Given the description of an element on the screen output the (x, y) to click on. 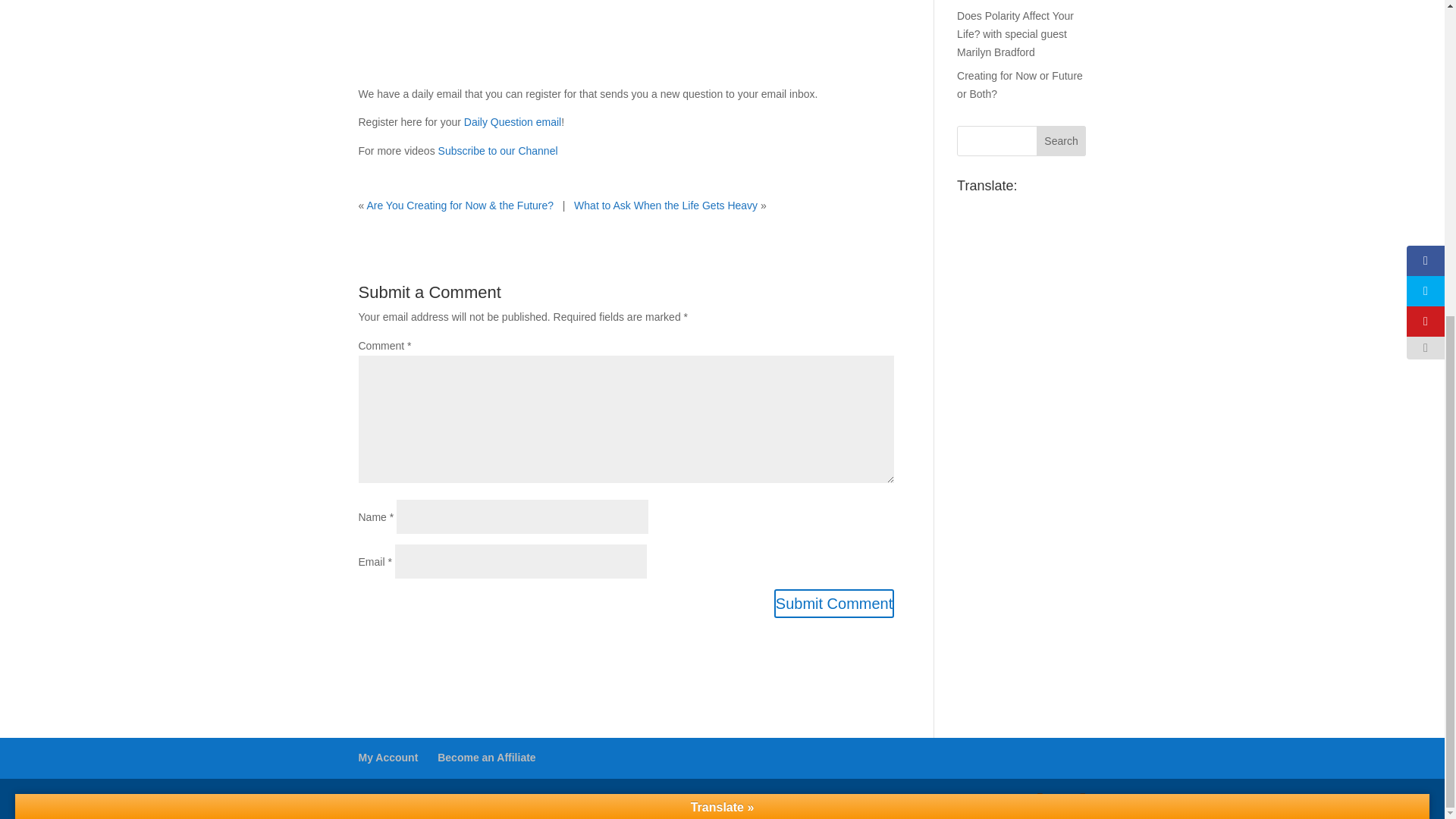
Daily Question email (512, 121)
Subscribe to our Channel (497, 150)
Submit Comment (834, 603)
Search (1061, 141)
Submit Comment (834, 603)
What to Ask When the Life Gets Heavy (665, 205)
